Given the description of an element on the screen output the (x, y) to click on. 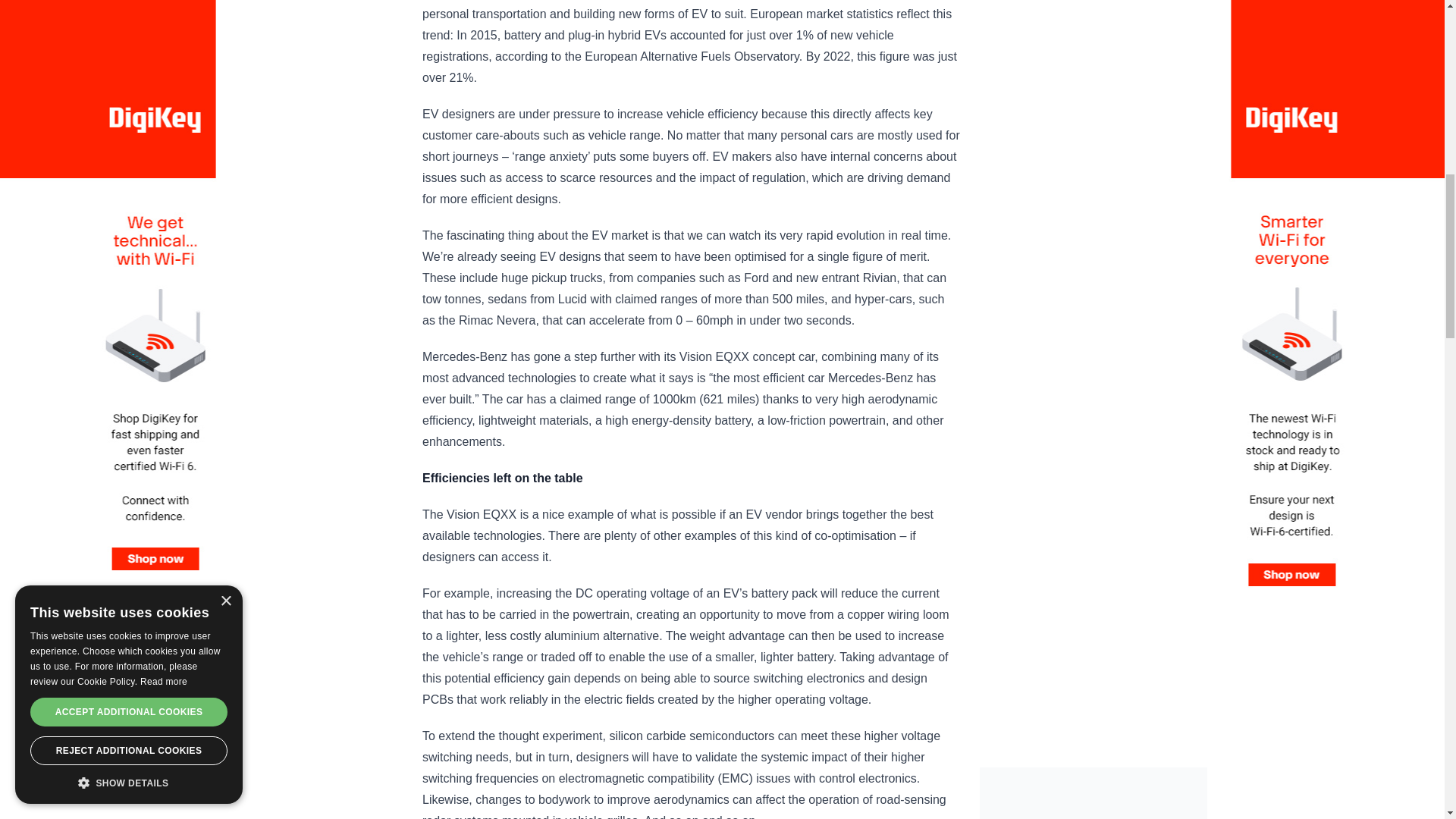
3rd party ad content (1093, 793)
